Given the description of an element on the screen output the (x, y) to click on. 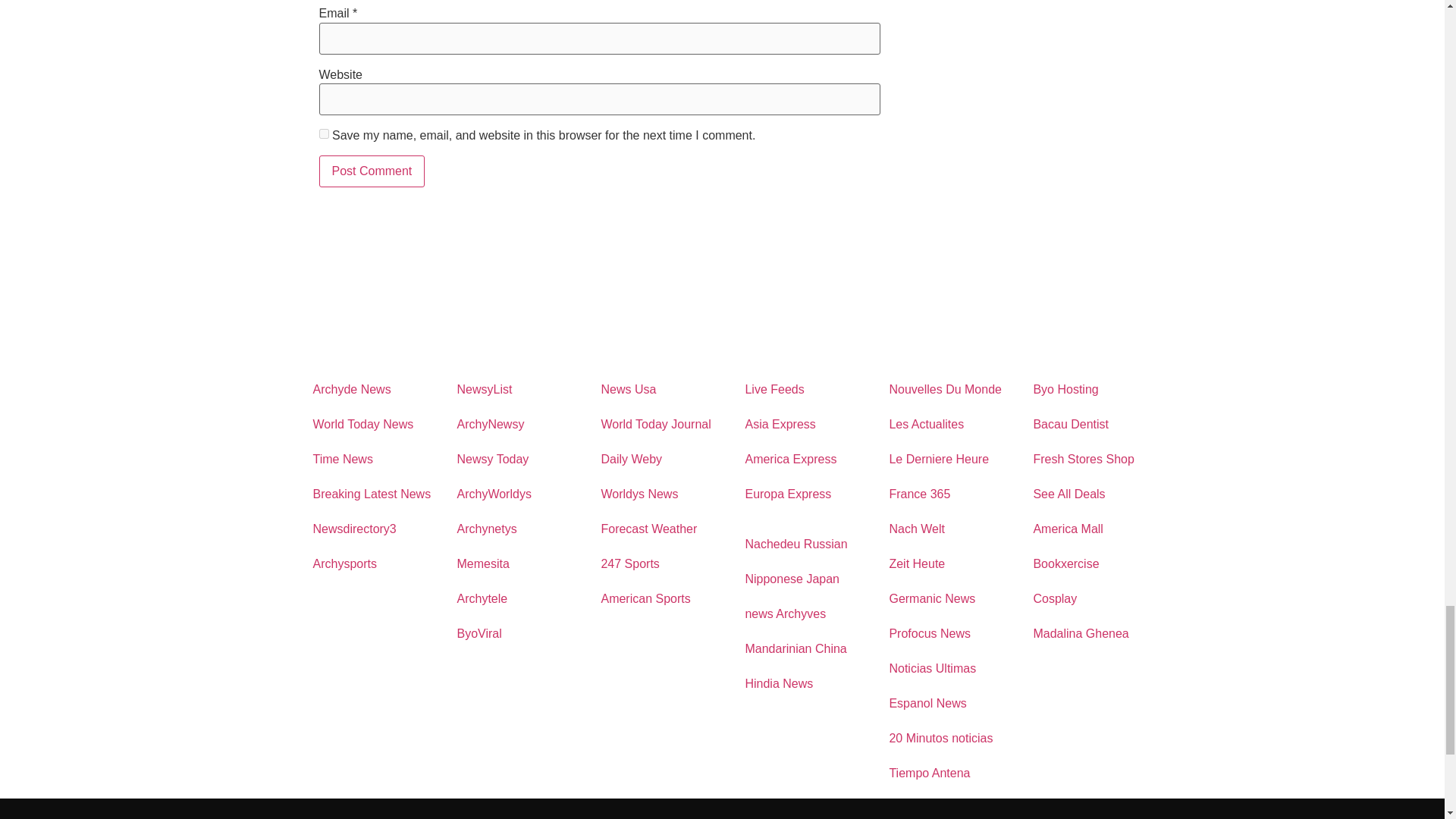
Post Comment (371, 171)
yes (323, 133)
